Given the description of an element on the screen output the (x, y) to click on. 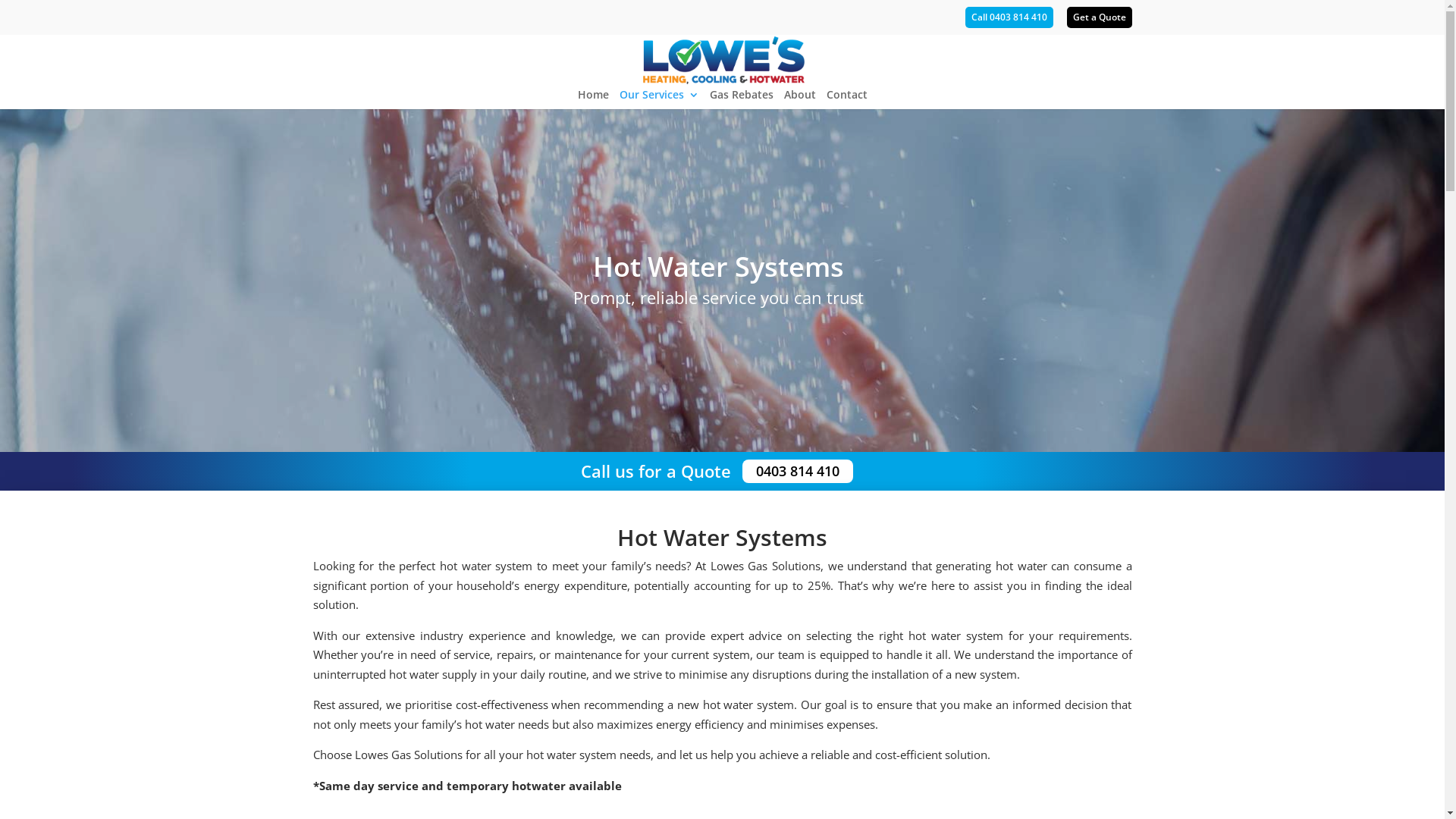
0403 814 410 Element type: text (796, 471)
Our Services Element type: text (658, 99)
Get a Quote Element type: text (1098, 20)
Home Element type: text (592, 99)
Contact Element type: text (846, 99)
Call 0403 814 410 Element type: text (1008, 20)
Gas Rebates Element type: text (741, 99)
About Element type: text (799, 99)
